Given the description of an element on the screen output the (x, y) to click on. 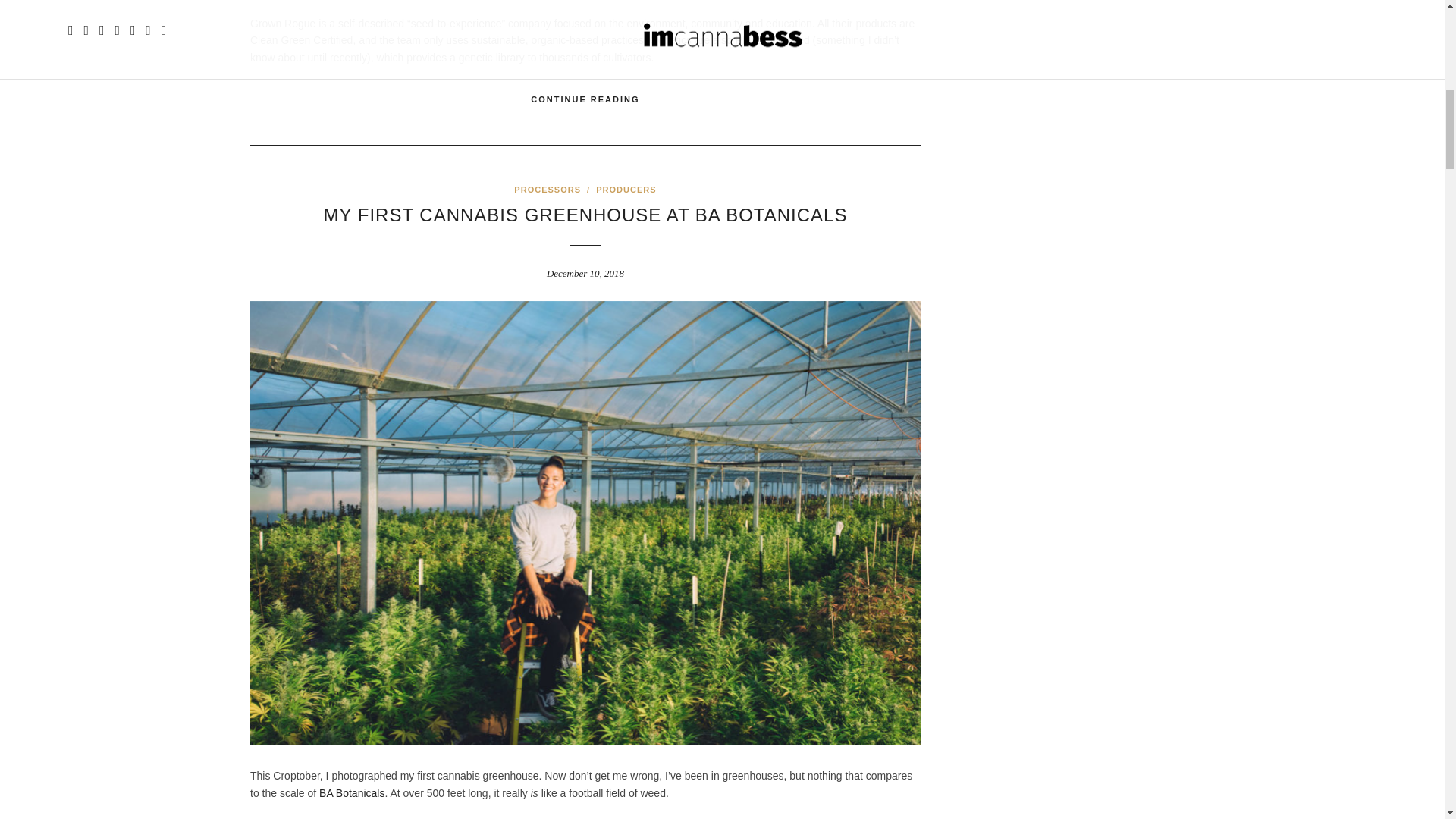
BA Botanicals (351, 793)
CONTINUE READING (585, 99)
My First Cannabis Greenhouse at BA Botanicals (585, 214)
MY FIRST CANNABIS GREENHOUSE AT BA BOTANICALS (585, 214)
PROCESSORS (546, 189)
PRODUCERS (625, 189)
